Given the description of an element on the screen output the (x, y) to click on. 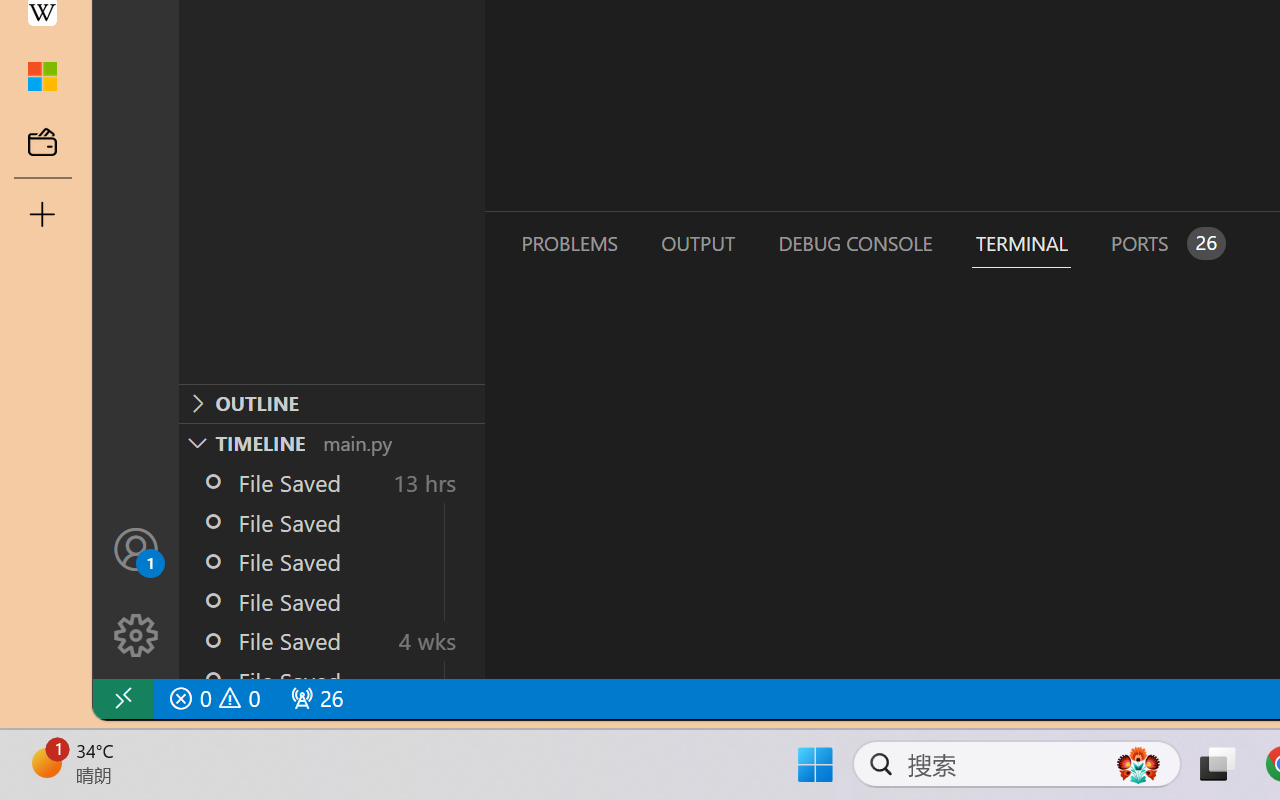
Manage (135, 591)
No Problems (212, 698)
remote (122, 698)
